Given the description of an element on the screen output the (x, y) to click on. 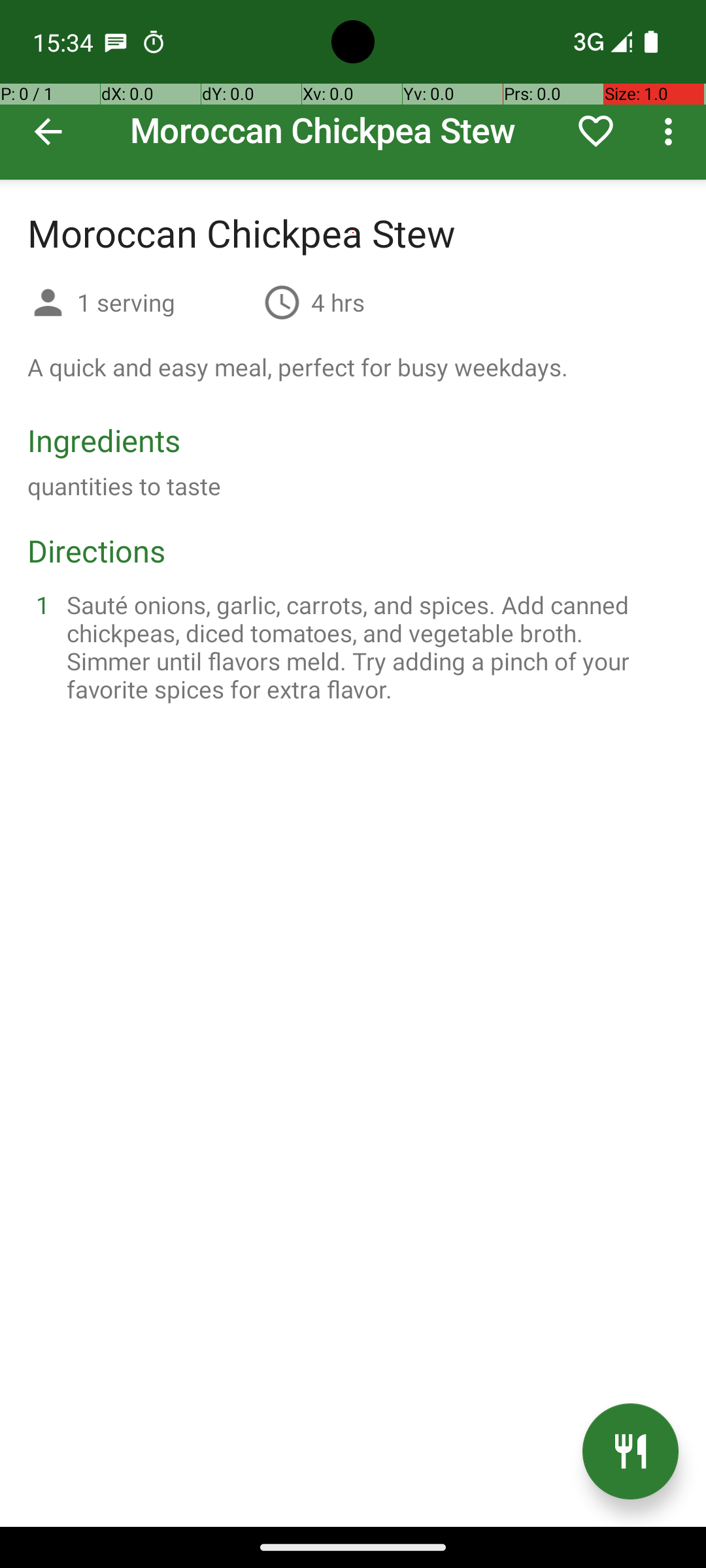
Sauté onions, garlic, carrots, and spices. Add canned chickpeas, diced tomatoes, and vegetable broth. Simmer until flavors meld. Try adding a pinch of your favorite spices for extra flavor. Element type: android.widget.TextView (368, 646)
